Given the description of an element on the screen output the (x, y) to click on. 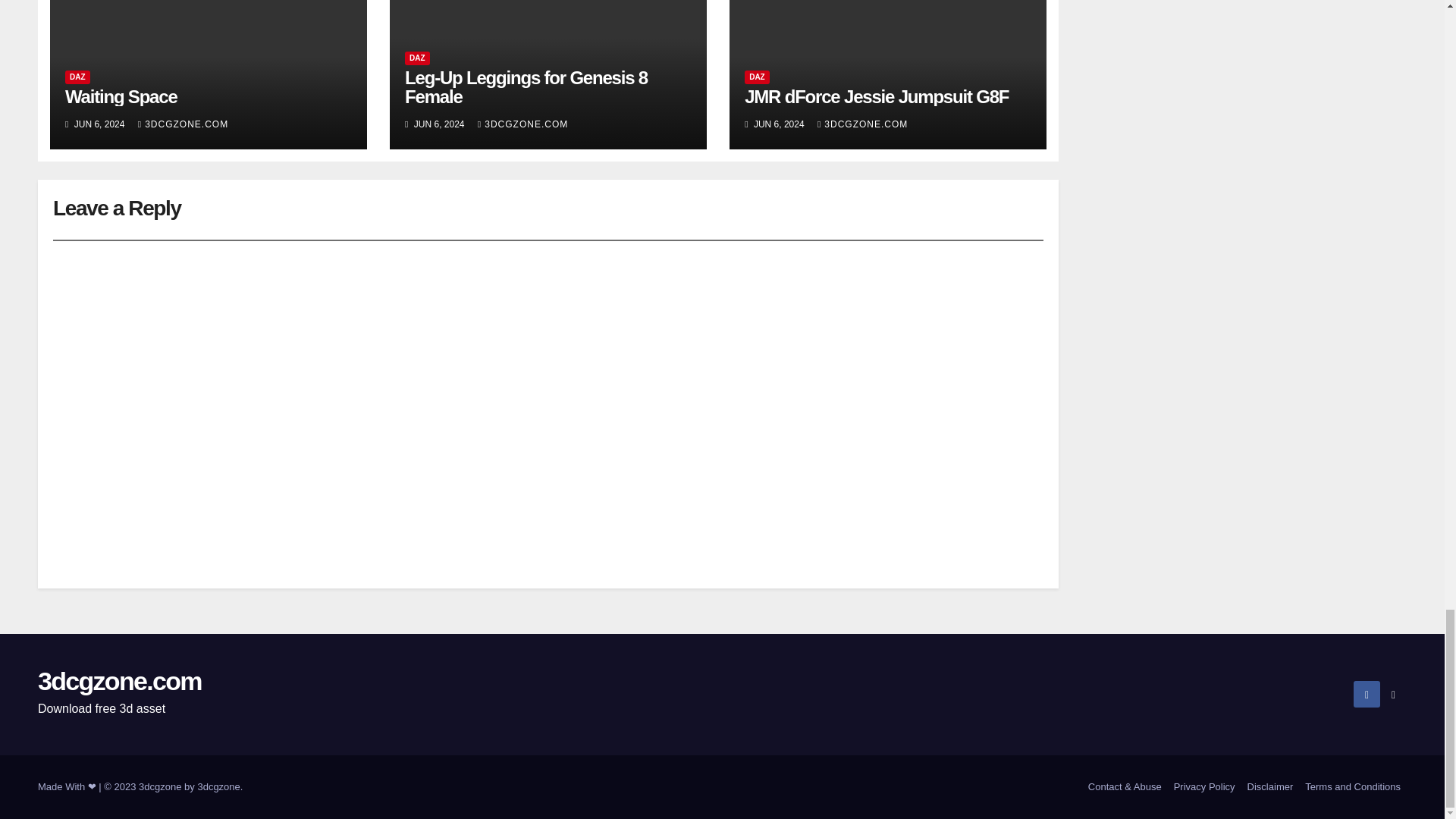
Permalink to: Leg-Up Leggings for Genesis 8 Female (525, 87)
Permalink to: JMR dForce Jessie Jumpsuit G8F (876, 96)
Permalink to: Waiting Space (121, 96)
DAZ (77, 77)
Waiting Space (121, 96)
